Given the description of an element on the screen output the (x, y) to click on. 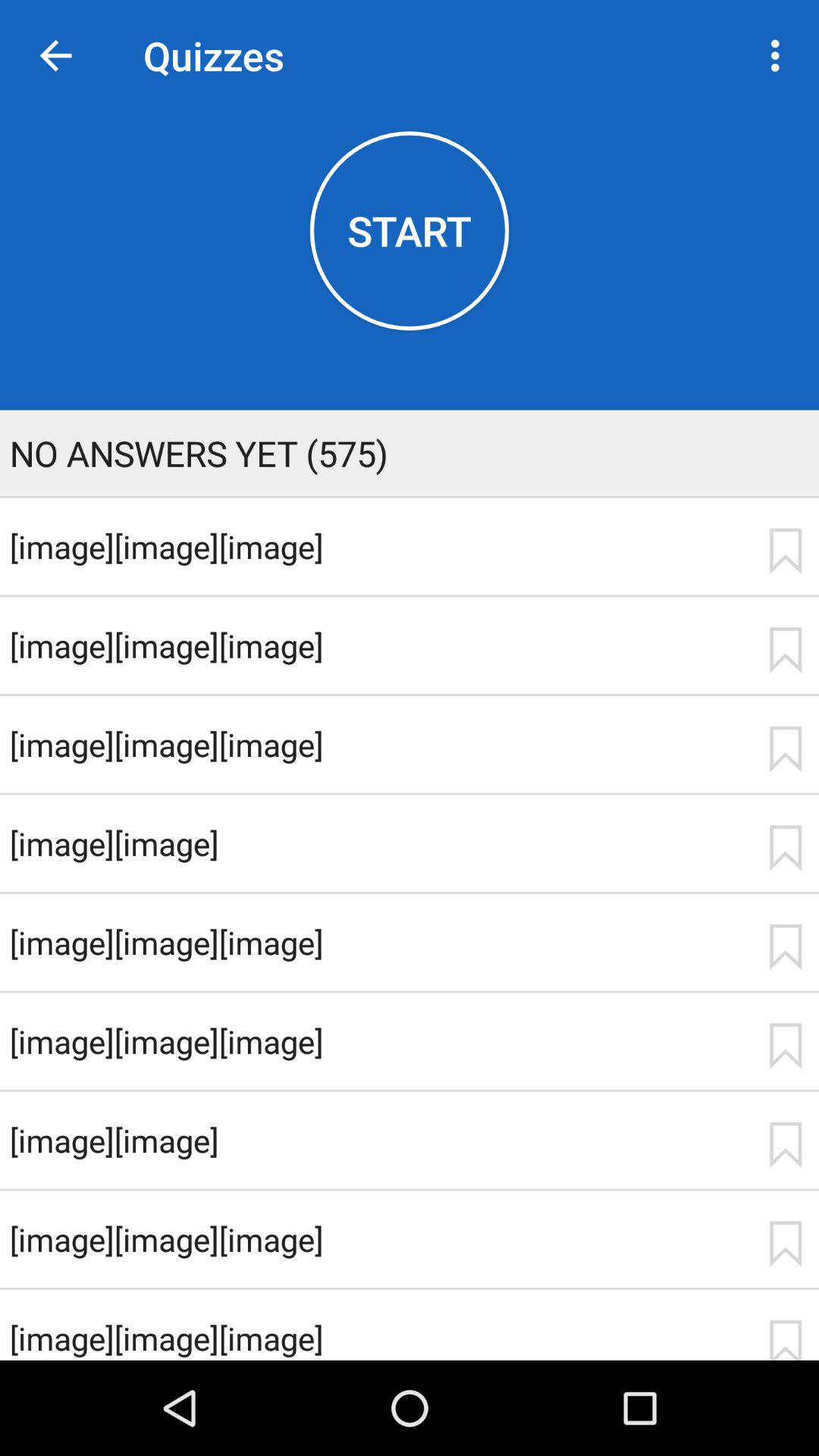
tap the icon next to the [image][image][image] app (784, 1243)
